Given the description of an element on the screen output the (x, y) to click on. 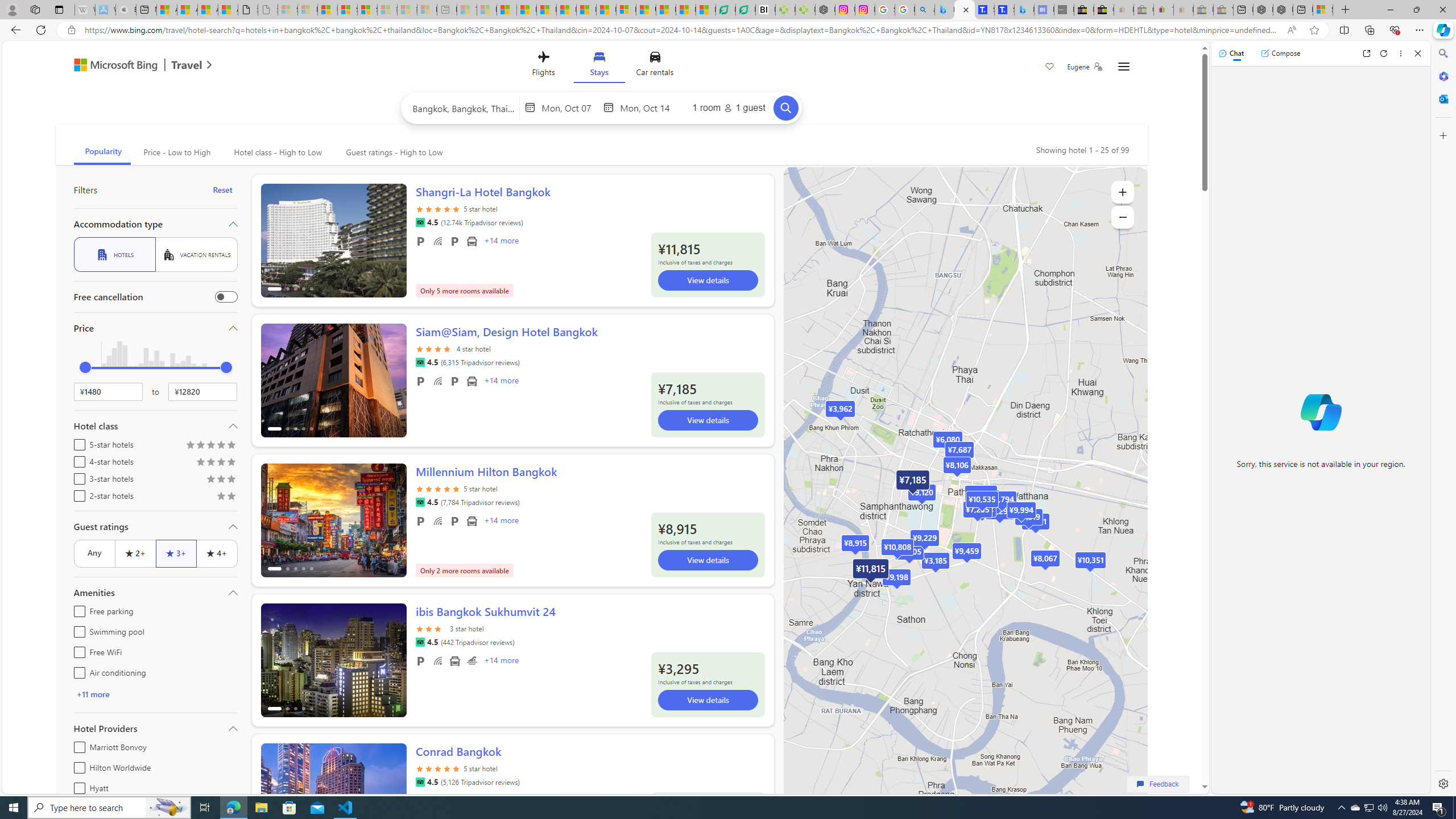
Eugene (1084, 66)
Swimming pool (471, 660)
+14 More Amenities (500, 661)
Shangri-La Bangkok, Hotel reviews and Room rates (1004, 9)
3-star hotels (76, 476)
Hotel class - High to Low (277, 152)
Microsoft Bing (110, 65)
Free parking (420, 660)
Search hotels or place (463, 107)
